Given the description of an element on the screen output the (x, y) to click on. 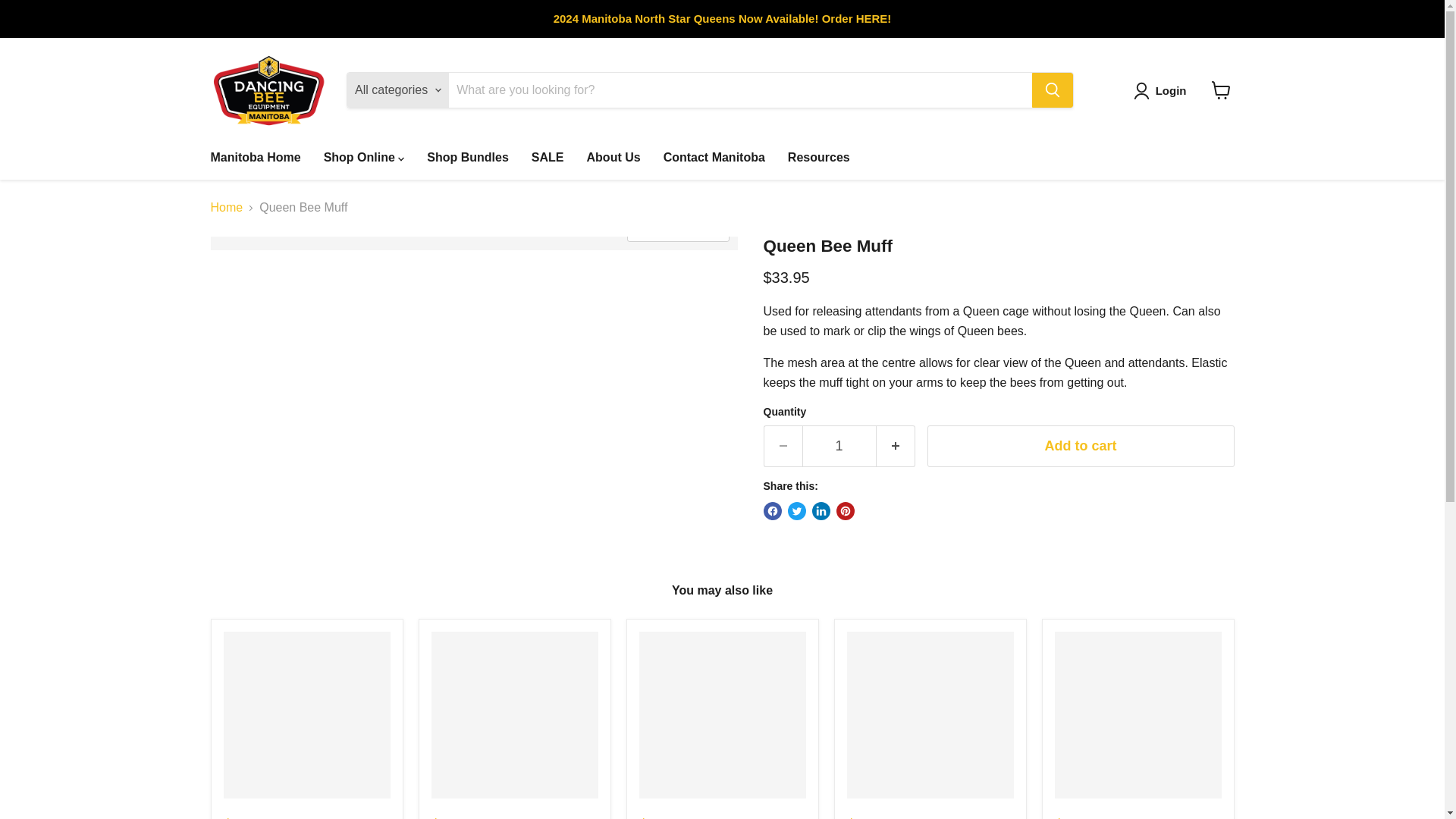
1 (839, 445)
Manitoba Home (254, 157)
Login (1163, 90)
View cart (1221, 90)
